Given the description of an element on the screen output the (x, y) to click on. 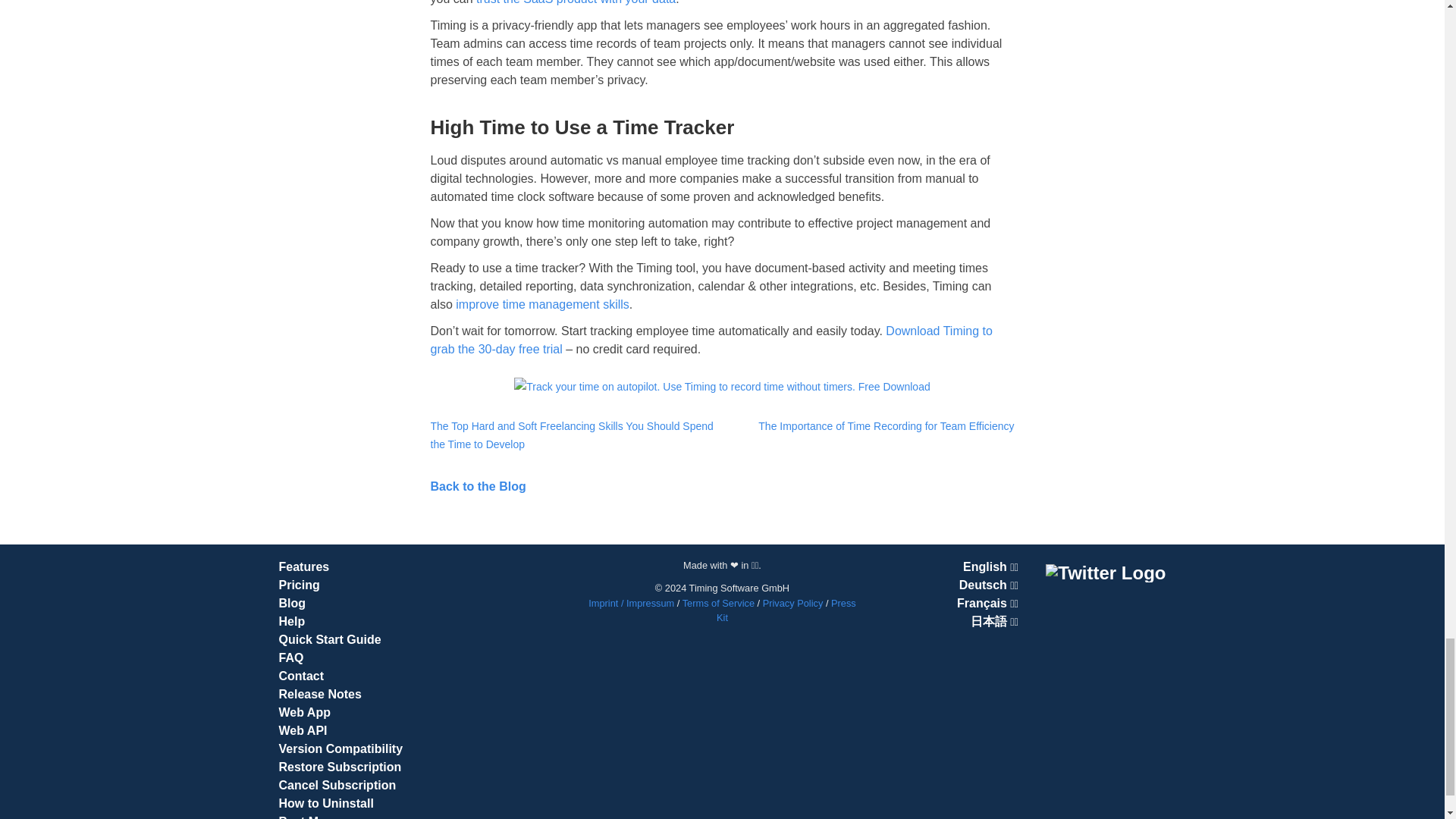
improve time management skills (541, 304)
trust the SaaS product with your data (575, 2)
The Importance of Time Recording for Team Efficiency (867, 425)
Download Timing to grab the 30-day free trial (711, 339)
Back to the Blog (477, 486)
